Given the description of an element on the screen output the (x, y) to click on. 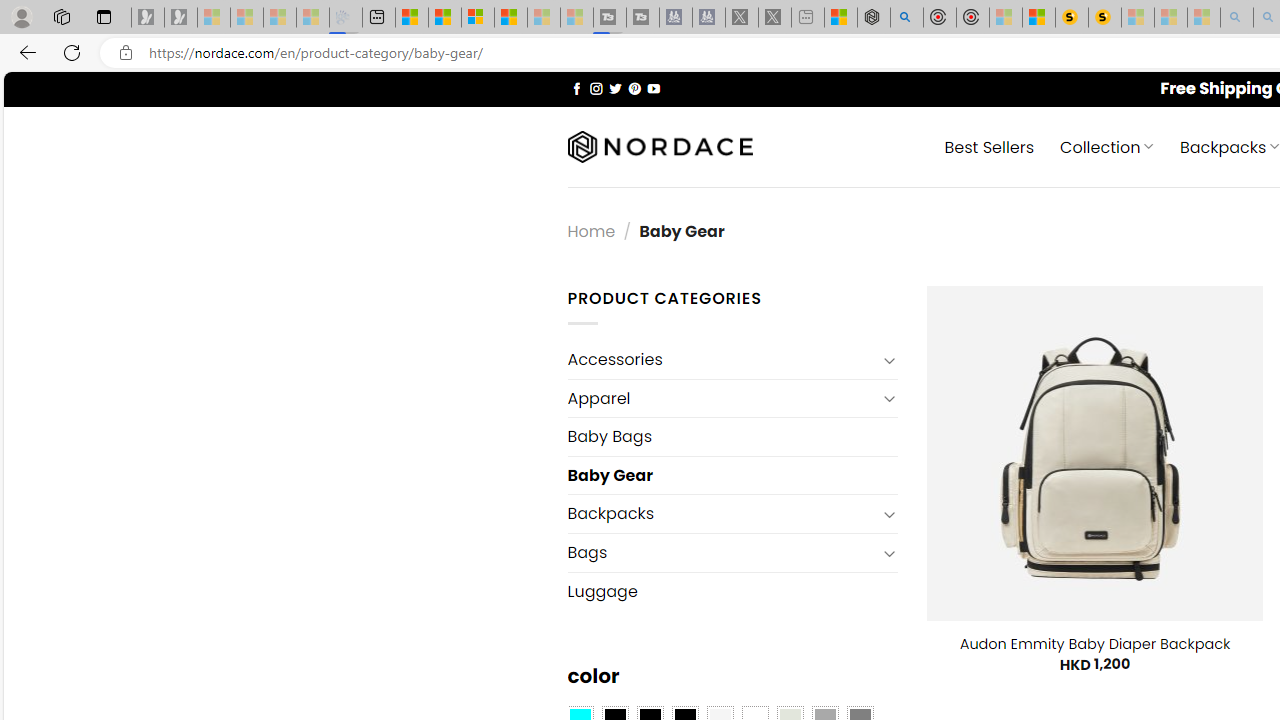
poe - Search (906, 17)
Apparel (721, 398)
